Given the description of an element on the screen output the (x, y) to click on. 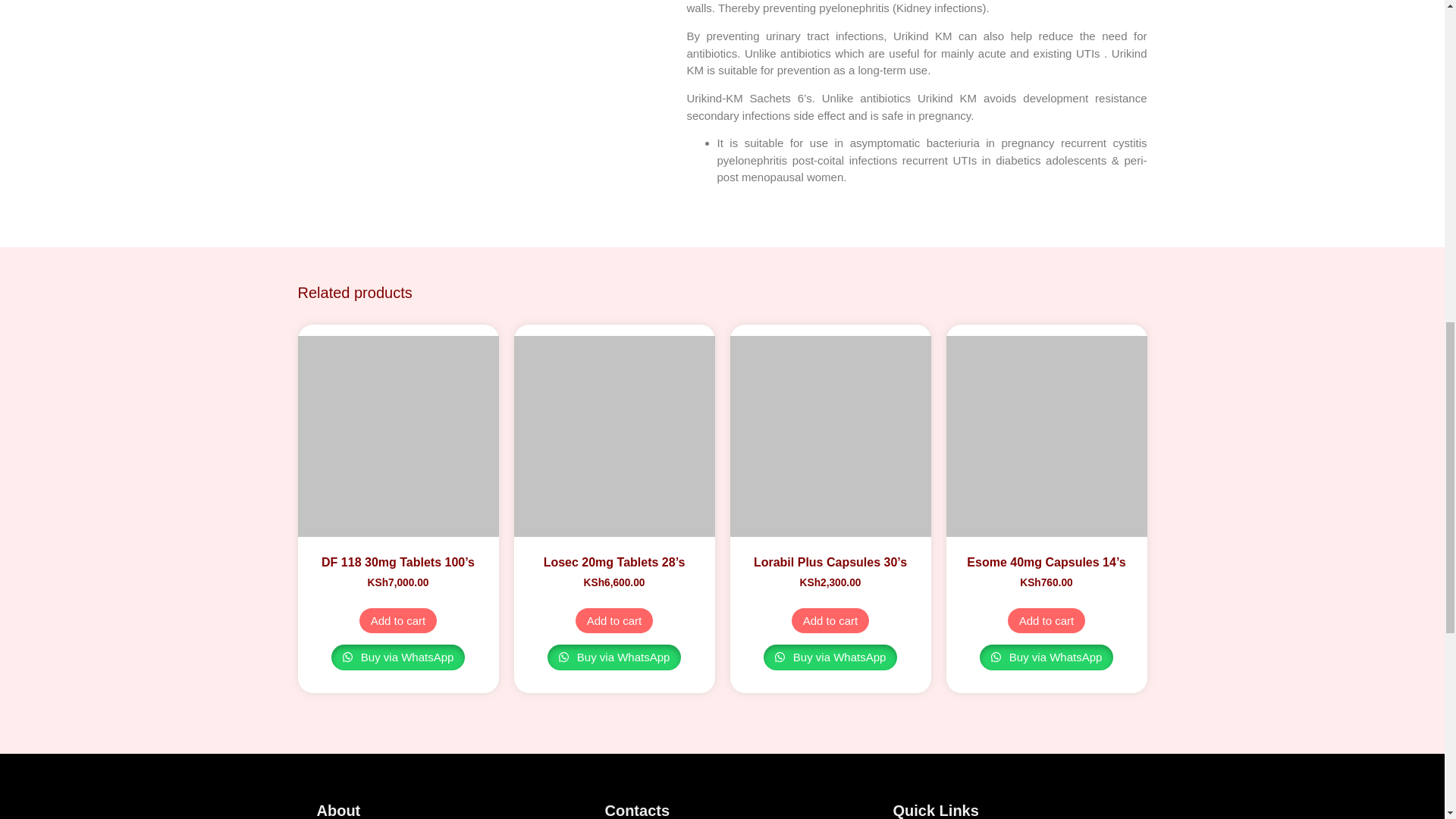
Complete order on WhatsApp to buy Lorabil Plus Capsules 30's (830, 657)
Complete order on WhatsApp to buy DF 118 30mg Tablets 100's (398, 657)
Complete order on WhatsApp to buy Losec 20mg Tablets 28's (614, 657)
Complete order on WhatsApp to buy Esome 40mg Capsules 14's (1046, 657)
